Given the description of an element on the screen output the (x, y) to click on. 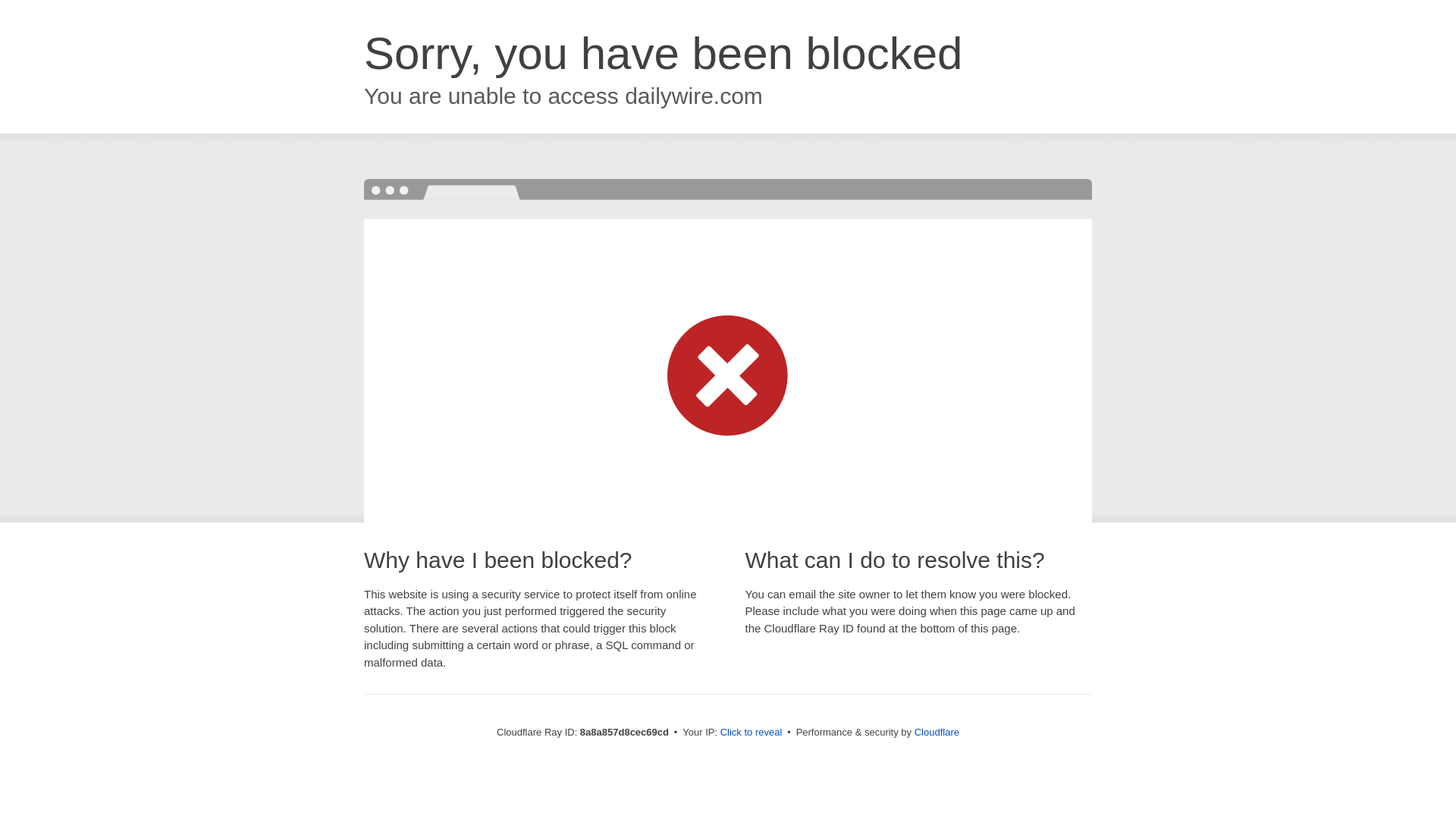
Cloudflare (936, 731)
Click to reveal (751, 732)
